Given the description of an element on the screen output the (x, y) to click on. 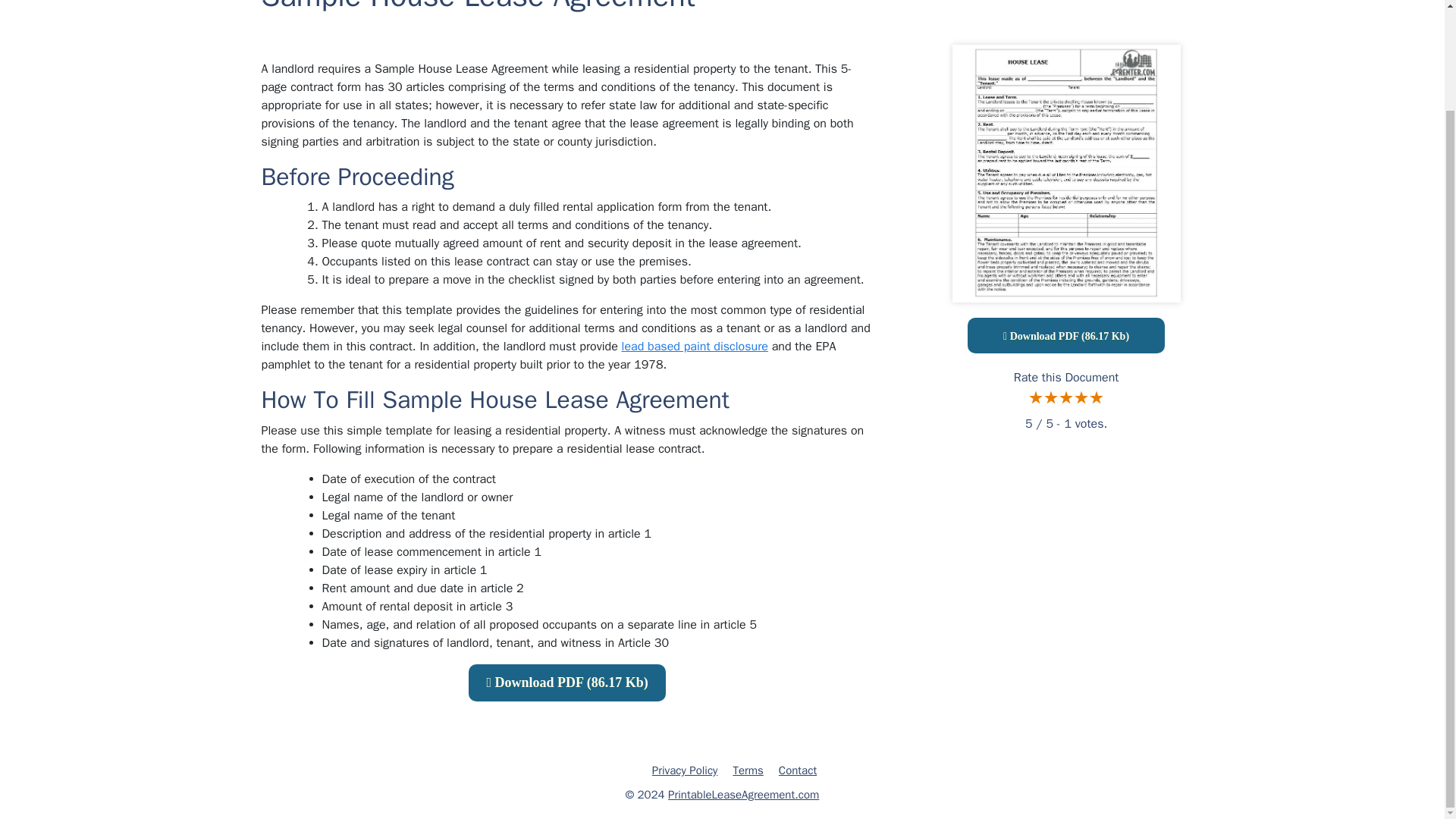
Privacy Policy (684, 770)
Terms (747, 770)
Contact (797, 770)
lead based paint disclosure (694, 346)
PrintableLeaseAgreement.com (743, 794)
